Given the description of an element on the screen output the (x, y) to click on. 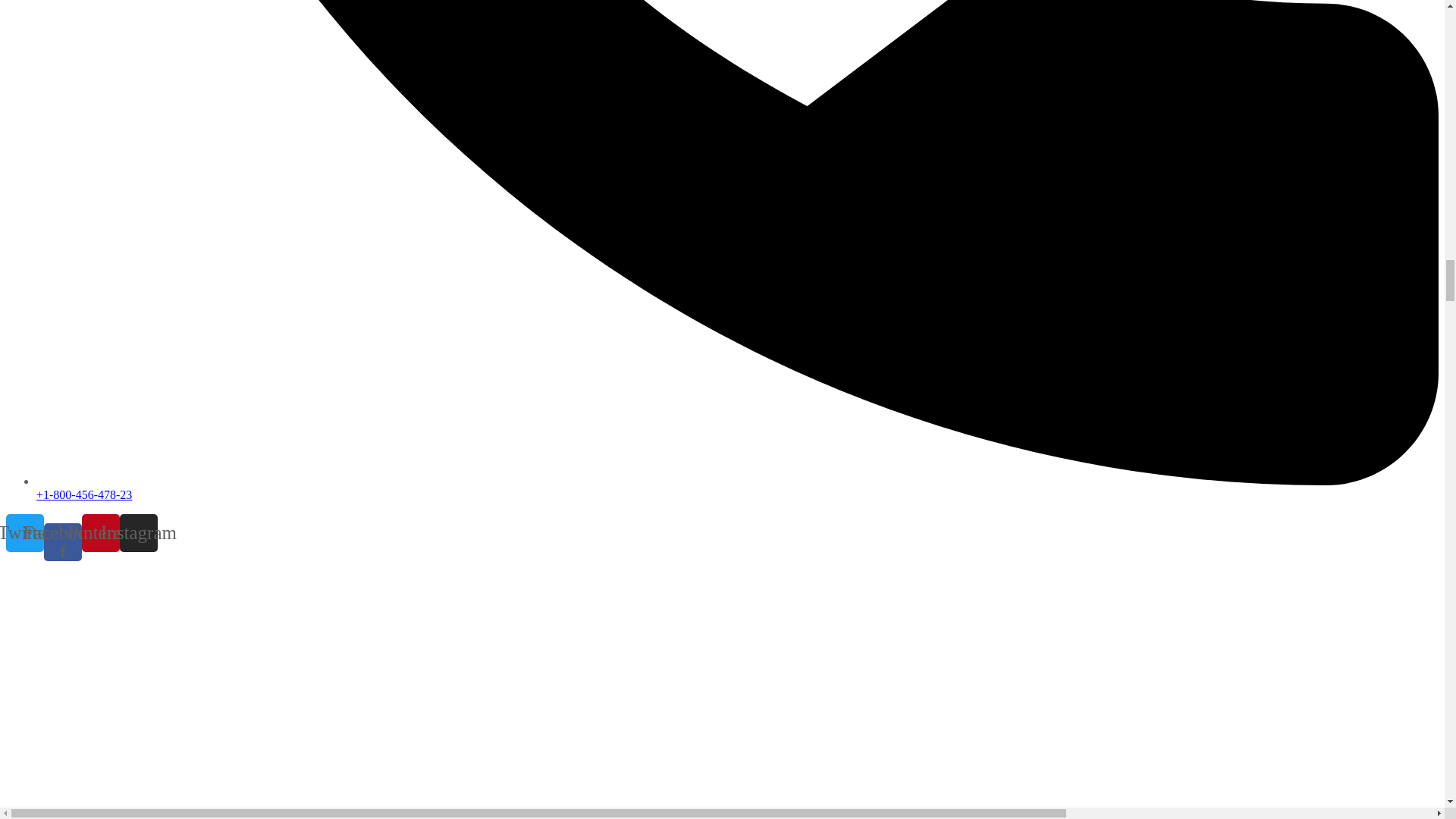
Pinterest (100, 533)
Facebook-f (62, 542)
Twitter (24, 533)
